Given the description of an element on the screen output the (x, y) to click on. 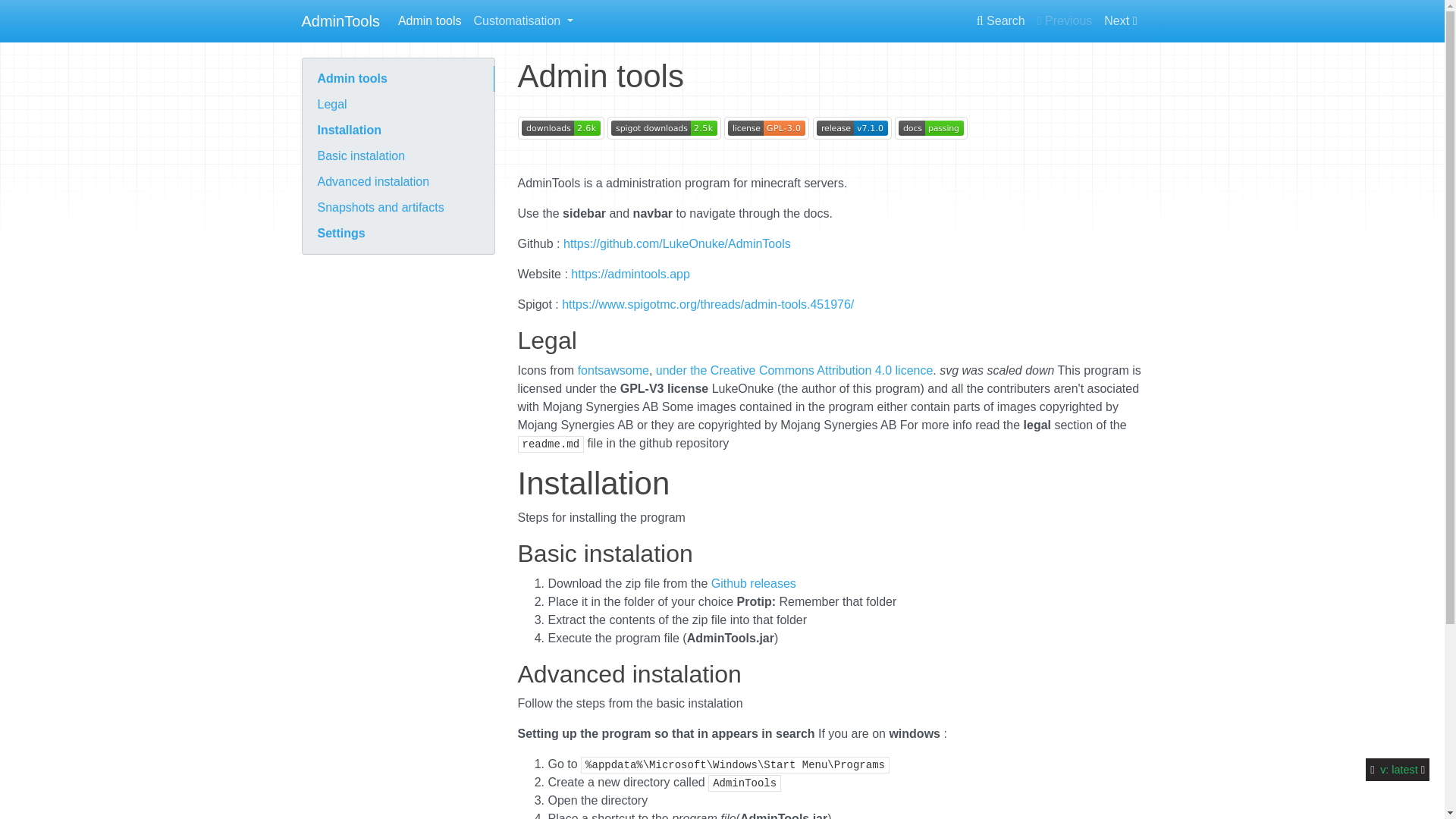
Previous (1064, 20)
fontsawsome (613, 369)
under the Creative Commons Attribution 4.0 licence (794, 369)
Admin tools (429, 20)
Basic instalation (397, 155)
Advanced instalation (397, 181)
Installation (397, 130)
Customatisation (522, 20)
Snapshots and artifacts (397, 207)
Github releases (753, 583)
